Given the description of an element on the screen output the (x, y) to click on. 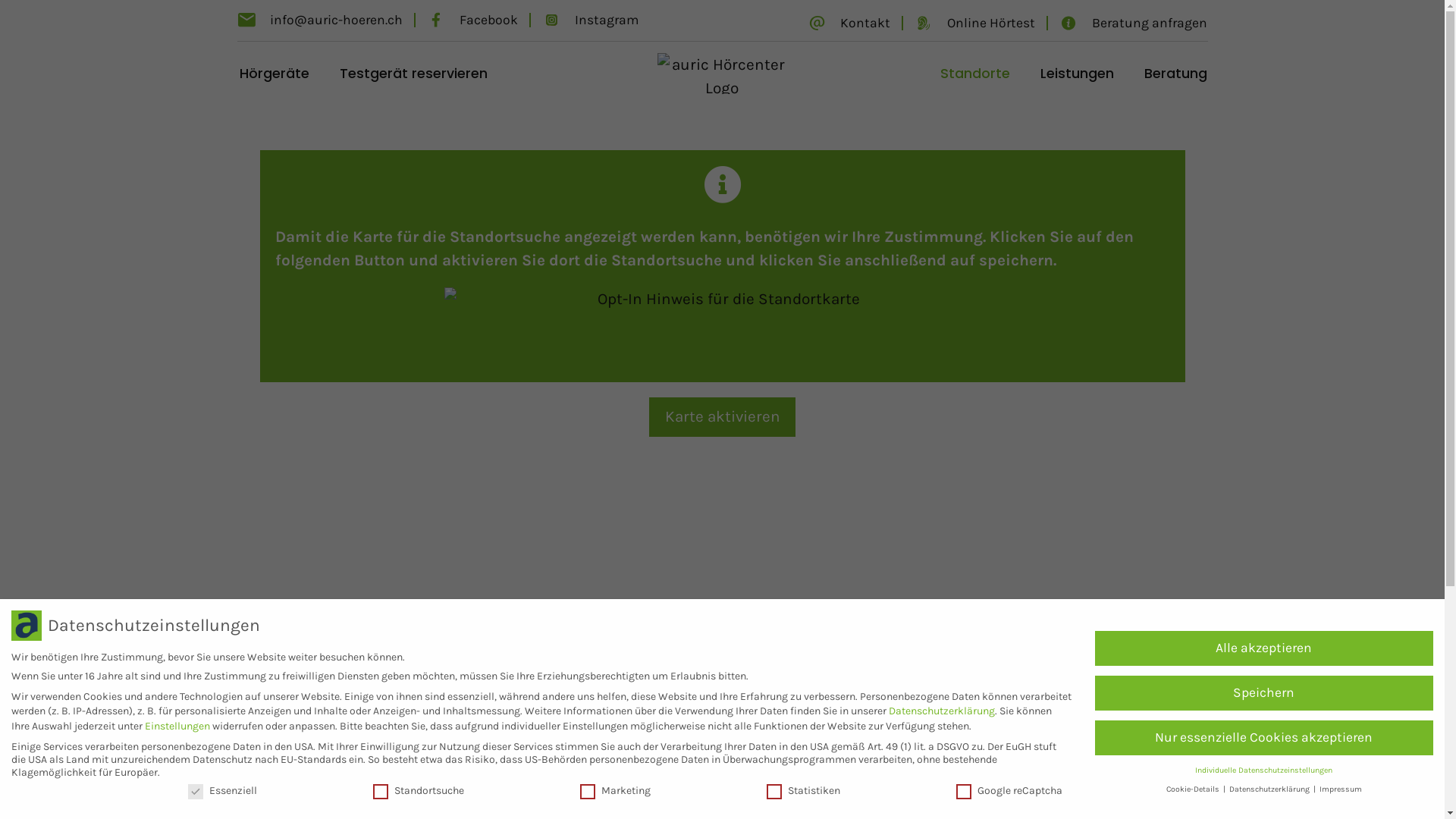
Facebook Element type: text (471, 19)
Karte aktivieren Element type: text (722, 416)
info@auric-hoeren.ch Element type: text (318, 19)
Impressum Element type: text (1340, 788)
Standorte Element type: text (975, 73)
Nur essenzielle Cookies akzeptieren Element type: text (1264, 737)
Beratung Element type: text (1175, 73)
Instagram Element type: text (590, 19)
Speichern Element type: text (1264, 692)
Alle akzeptieren Element type: text (1264, 647)
Einstellungen Element type: text (177, 725)
Leistungen Element type: text (1077, 73)
Cookie-Details Element type: text (1193, 788)
Beratung anfragen Element type: text (1133, 22)
Individuelle Datenschutzeinstellungen Element type: text (1263, 770)
Kontakt Element type: text (848, 22)
